Given the description of an element on the screen output the (x, y) to click on. 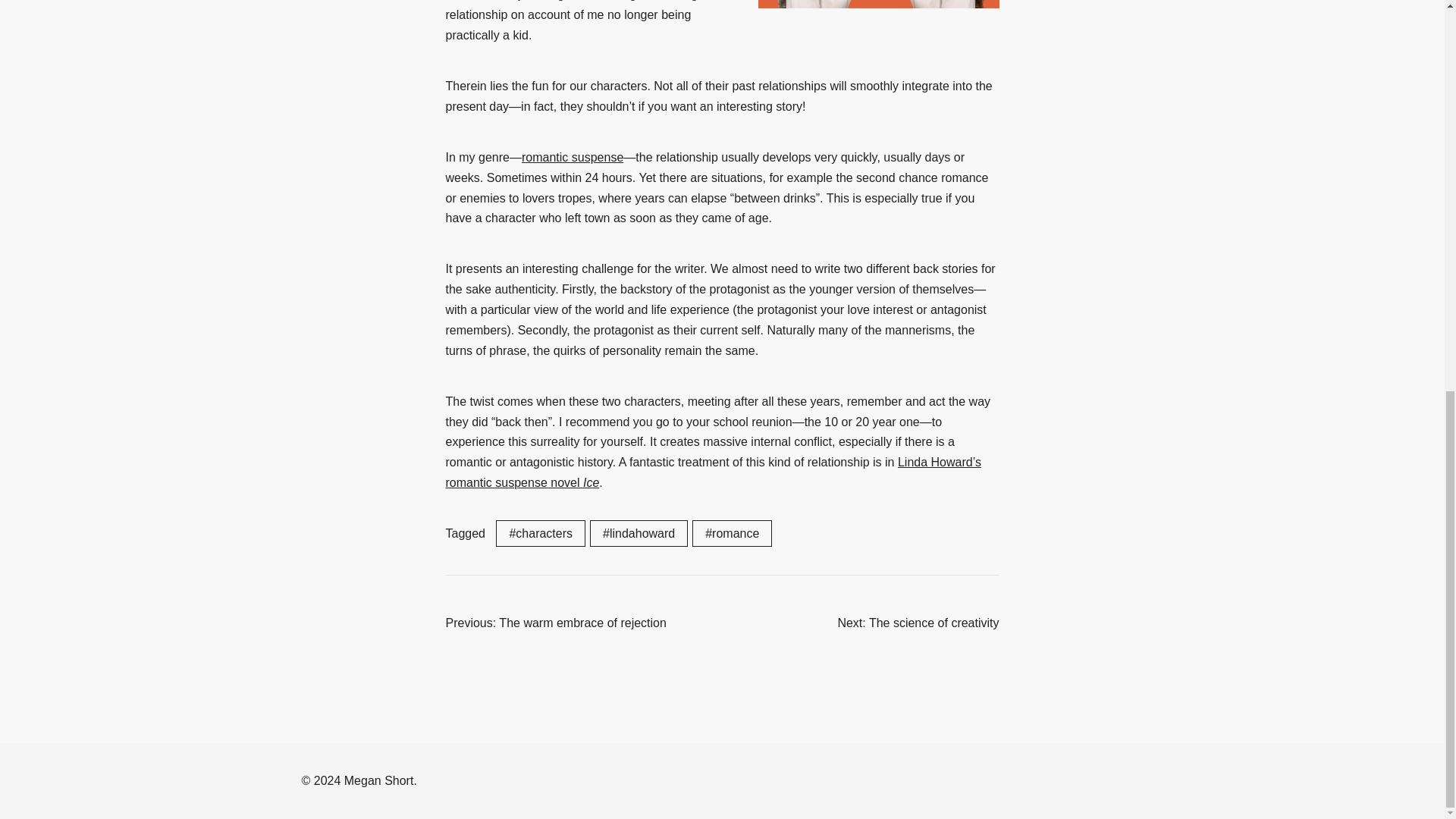
Previous: The warm embrace of rejection (555, 622)
romantic suspense (572, 156)
Next: The science of creativity (917, 622)
